Given the description of an element on the screen output the (x, y) to click on. 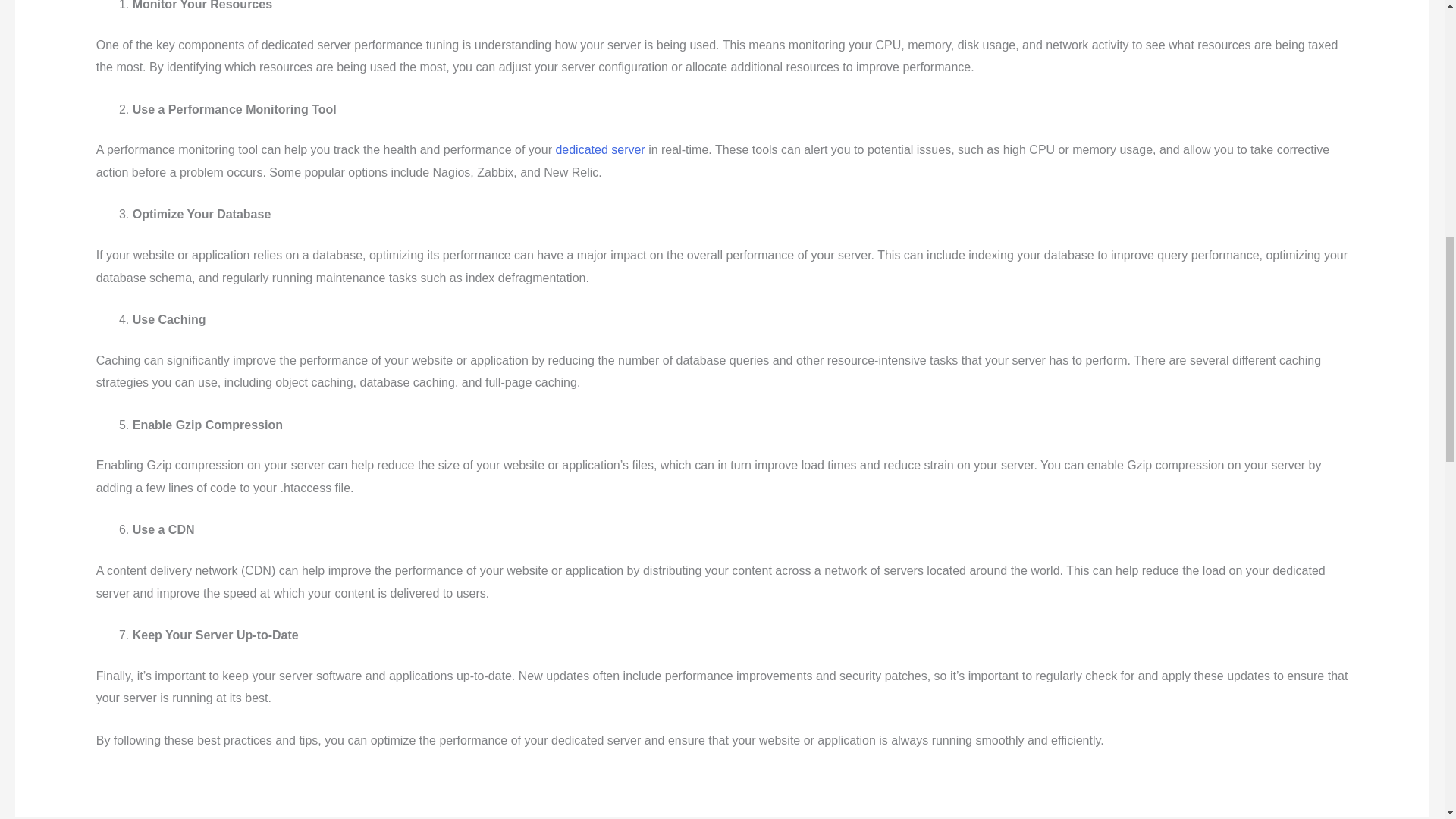
dedicated server (600, 149)
dedicated server  (600, 149)
